Given the description of an element on the screen output the (x, y) to click on. 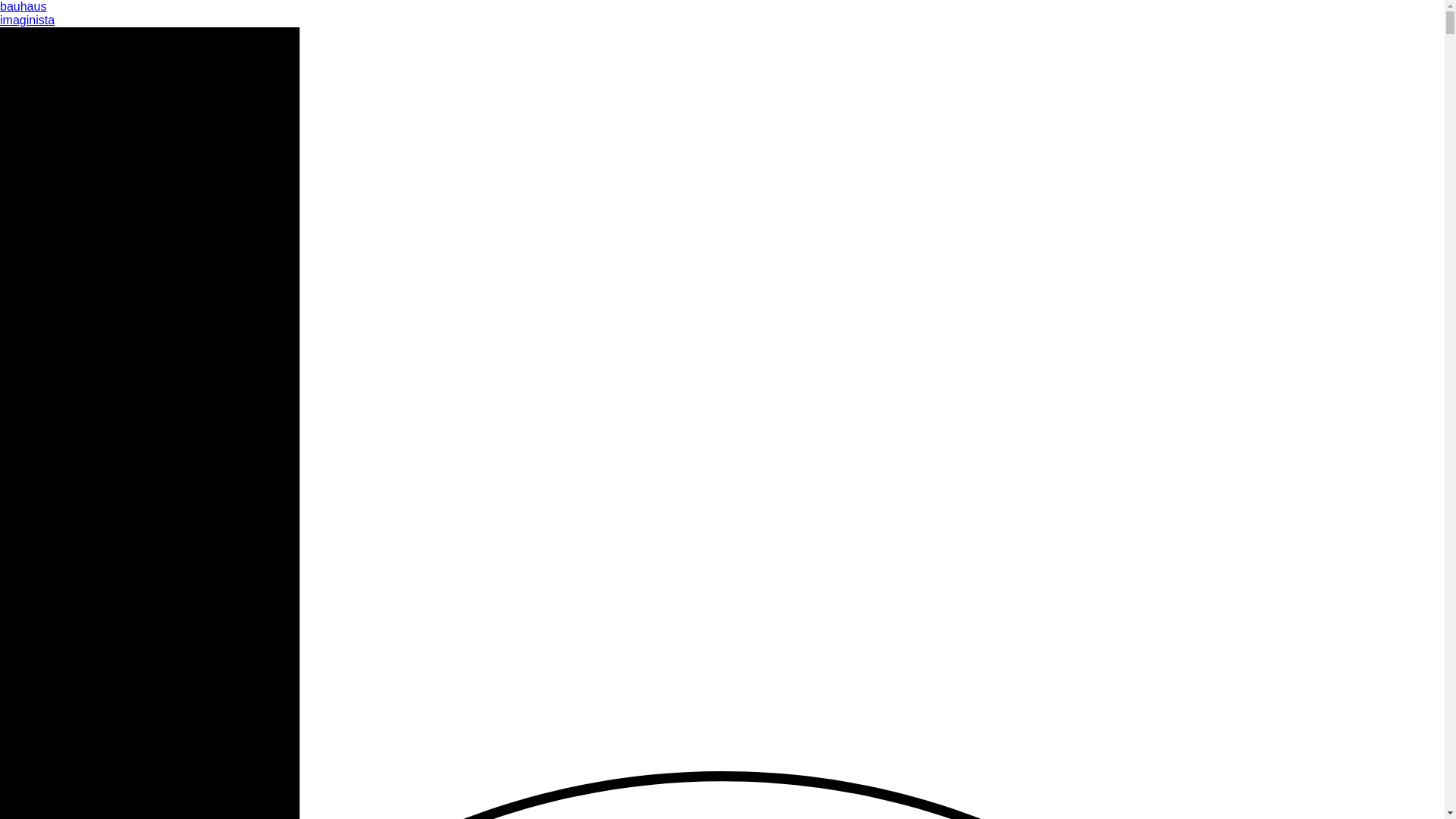
imaginista (27, 19)
bauhaus (23, 6)
